Given the description of an element on the screen output the (x, y) to click on. 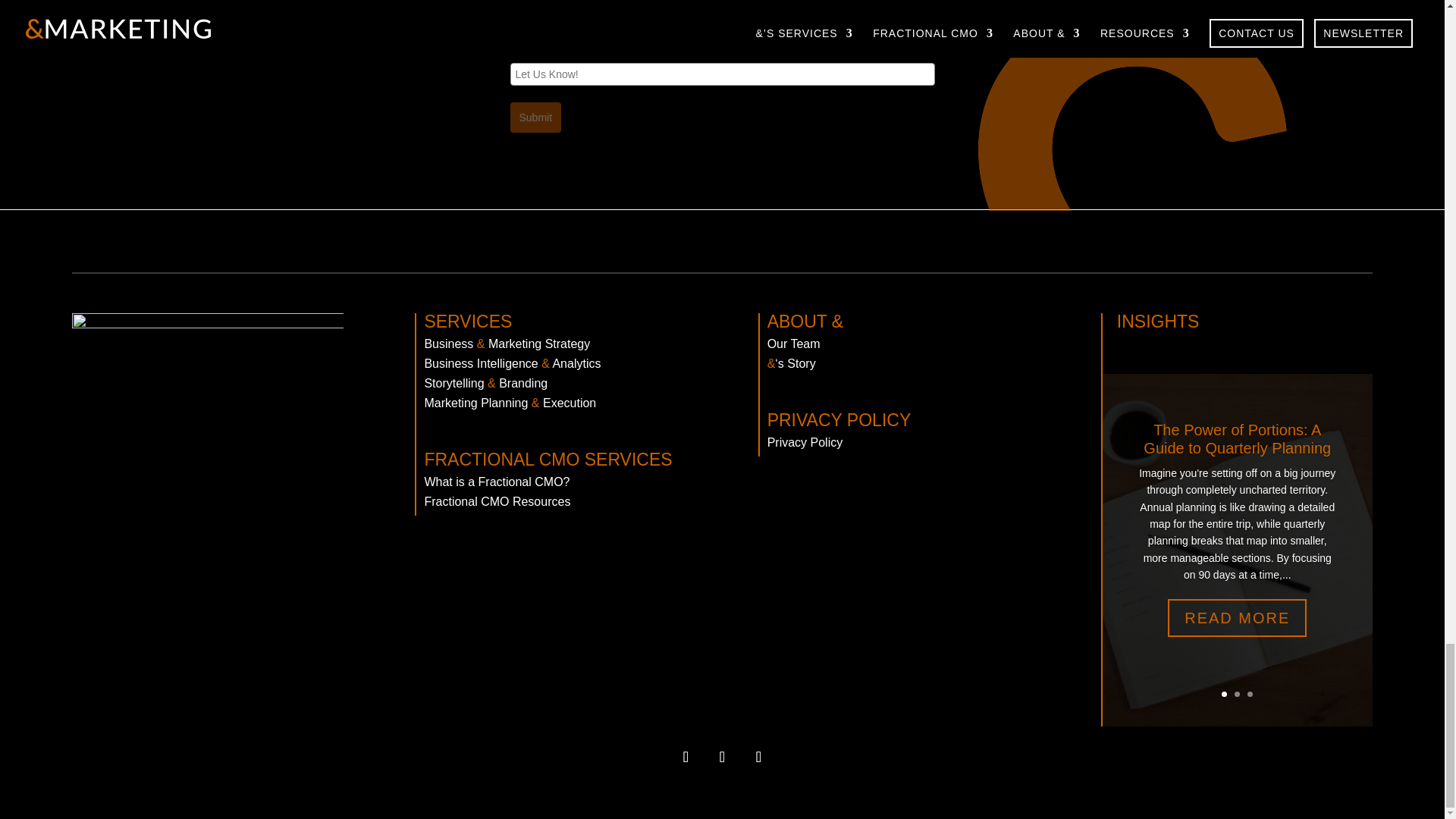
Follow on Facebook (757, 757)
Follow on Instagram (721, 757)
fCMO Services (518, 8)
Follow on LinkedIn (684, 757)
We Run on EOS (207, 402)
